Given the description of an element on the screen output the (x, y) to click on. 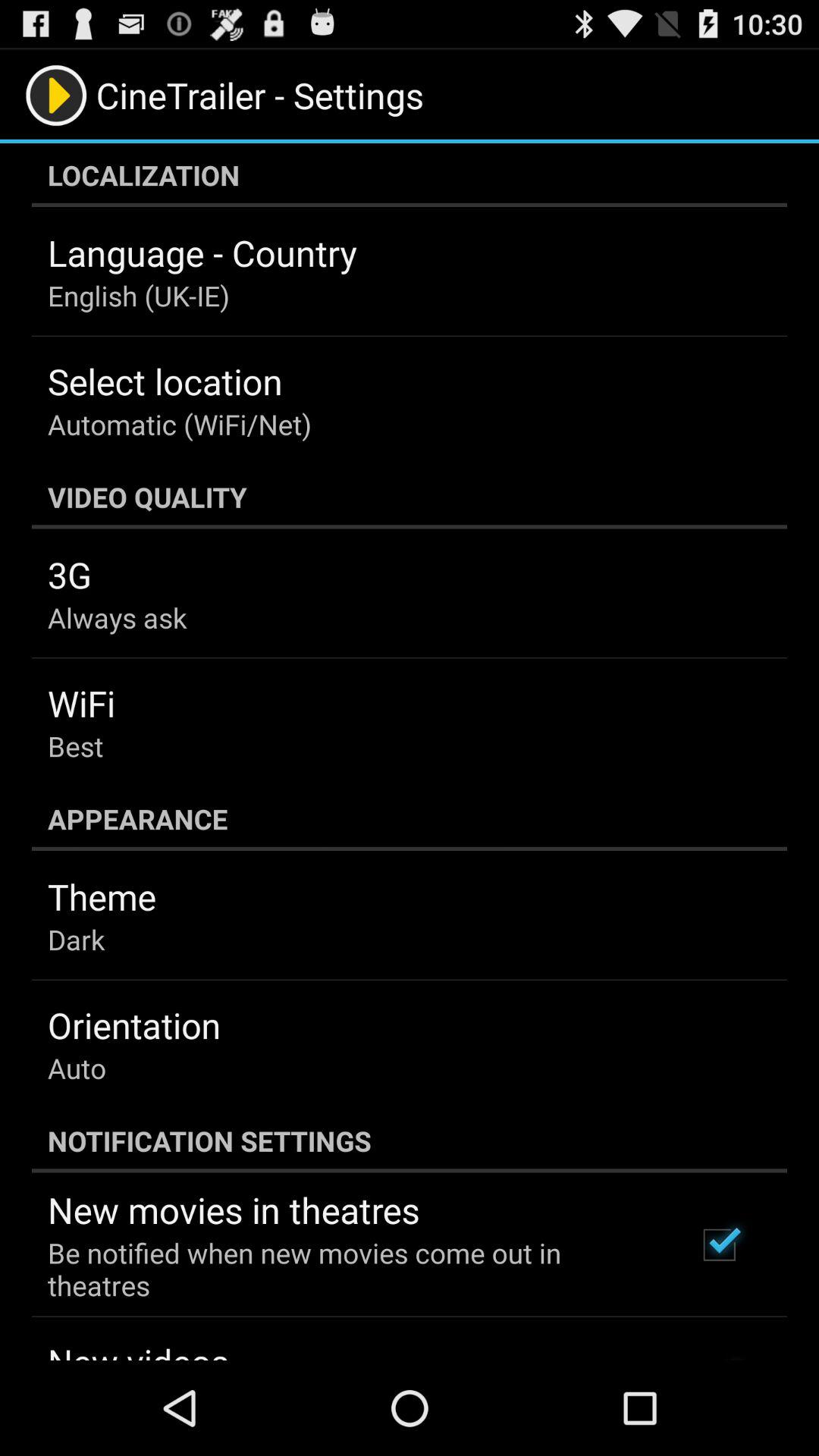
press the item below the be notified when app (138, 1348)
